Given the description of an element on the screen output the (x, y) to click on. 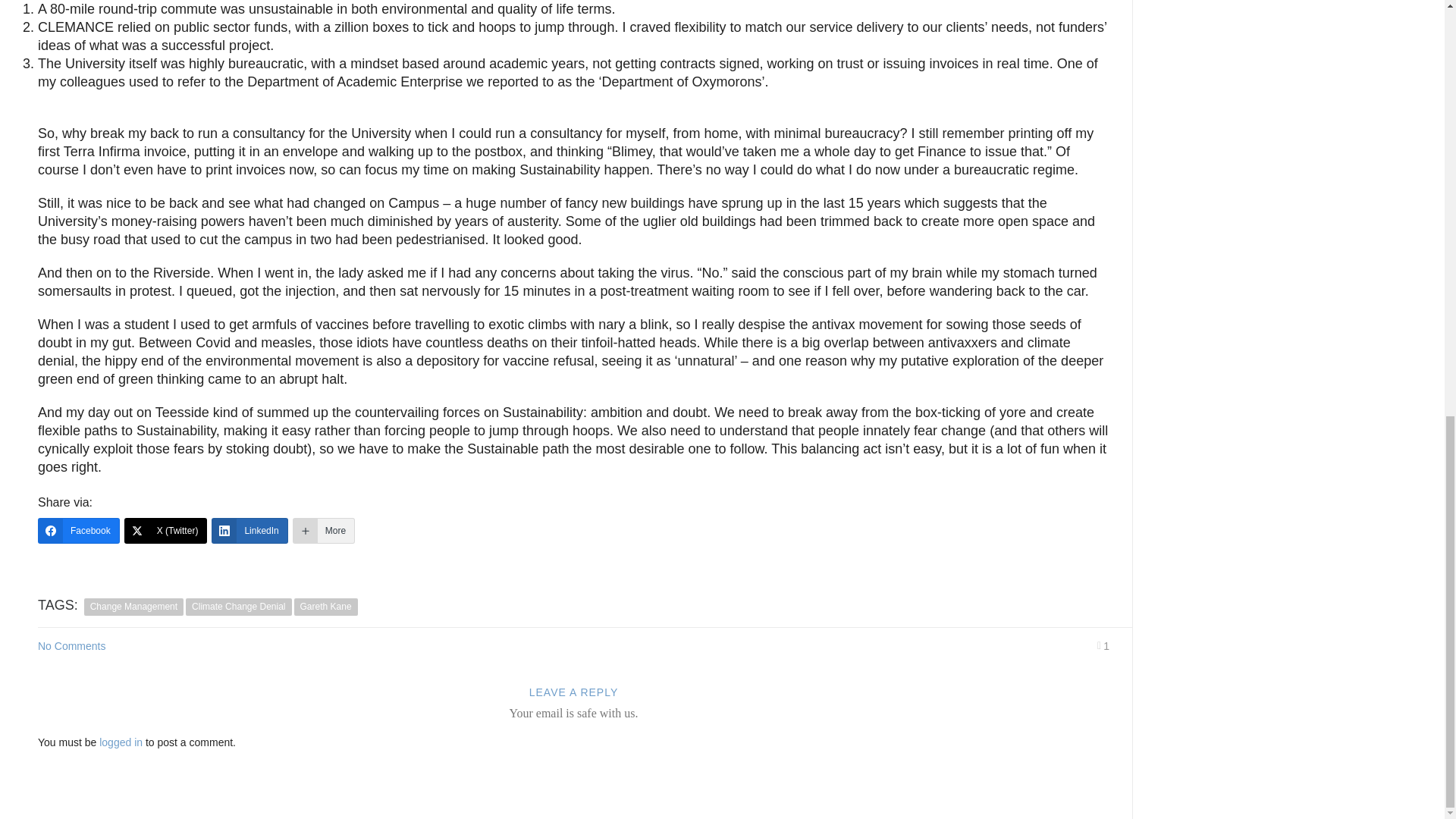
Facebook (78, 530)
LinkedIn (248, 530)
Change Management (133, 606)
More (323, 530)
No Comments (70, 645)
